Given the description of an element on the screen output the (x, y) to click on. 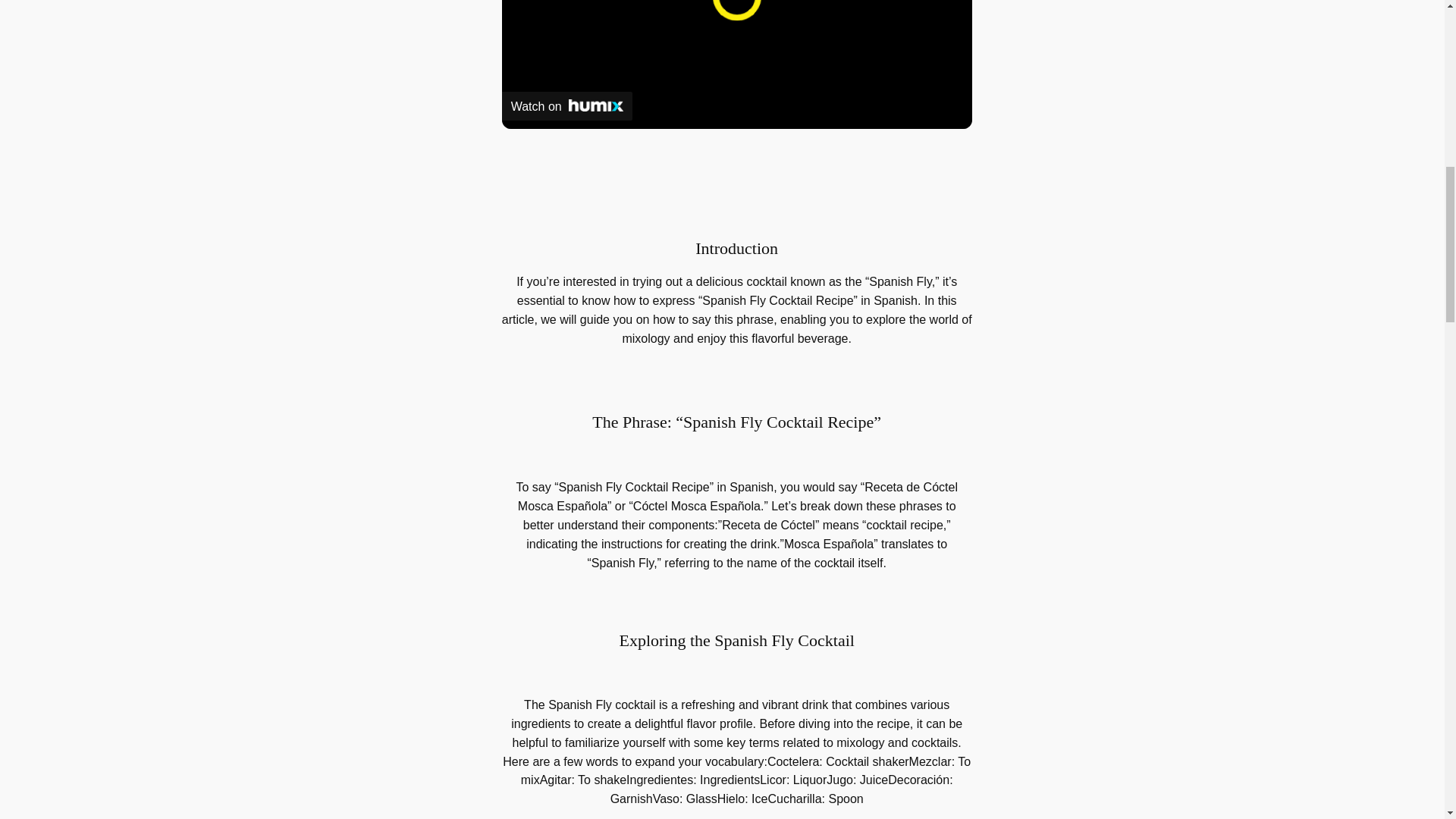
Watch on (566, 105)
